Given the description of an element on the screen output the (x, y) to click on. 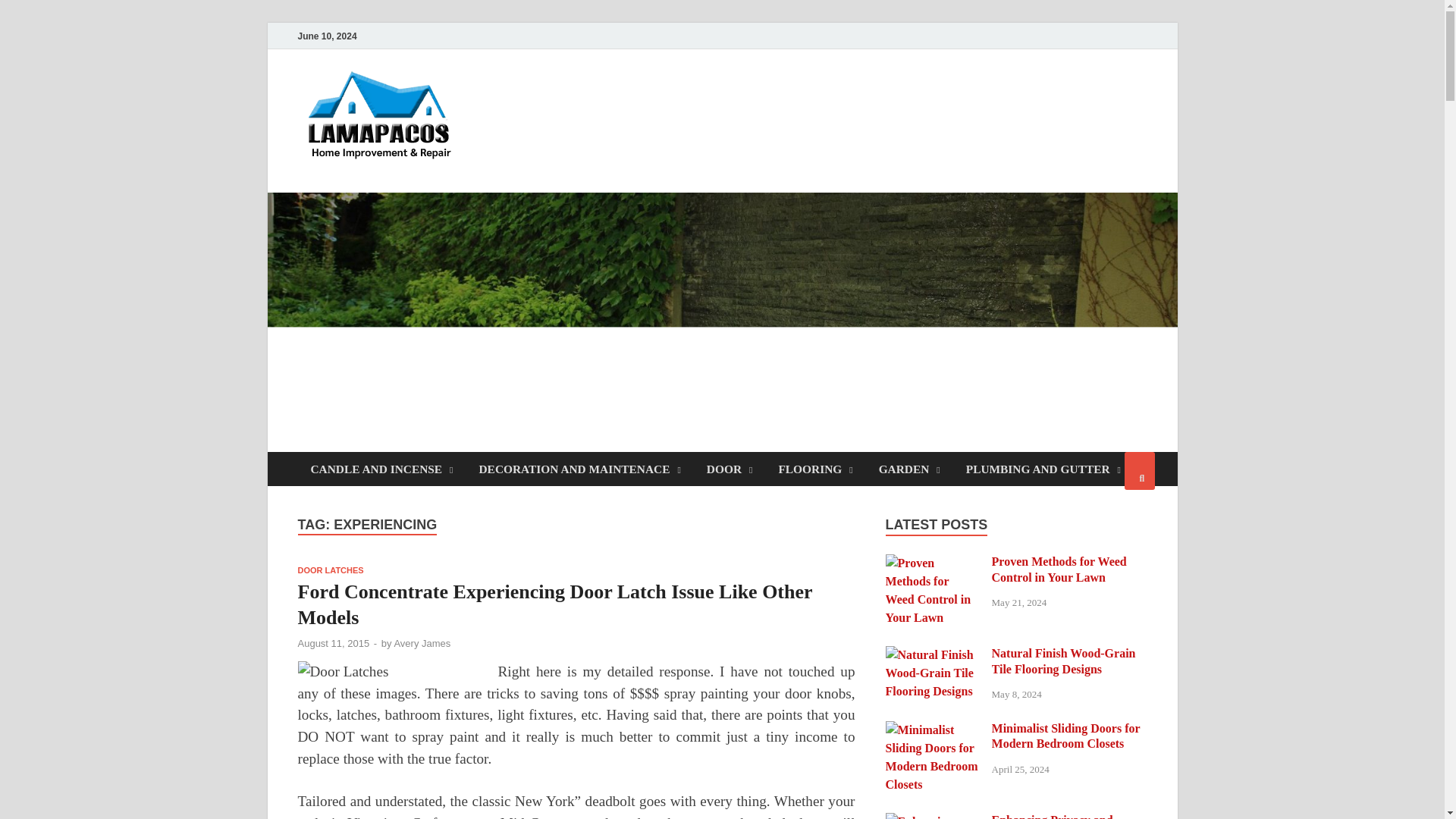
DECORATION AND MAINTENACE (579, 469)
Minimalist Sliding Doors for Modern Bedroom Closets (932, 729)
DOOR (729, 469)
lamapacos.com (569, 100)
CANDLE AND INCENSE (381, 469)
FLOORING (814, 469)
Natural Finish Wood-Grain Tile Flooring Designs (932, 654)
Proven Methods for Weed Control in Your Lawn (932, 562)
